Given the description of an element on the screen output the (x, y) to click on. 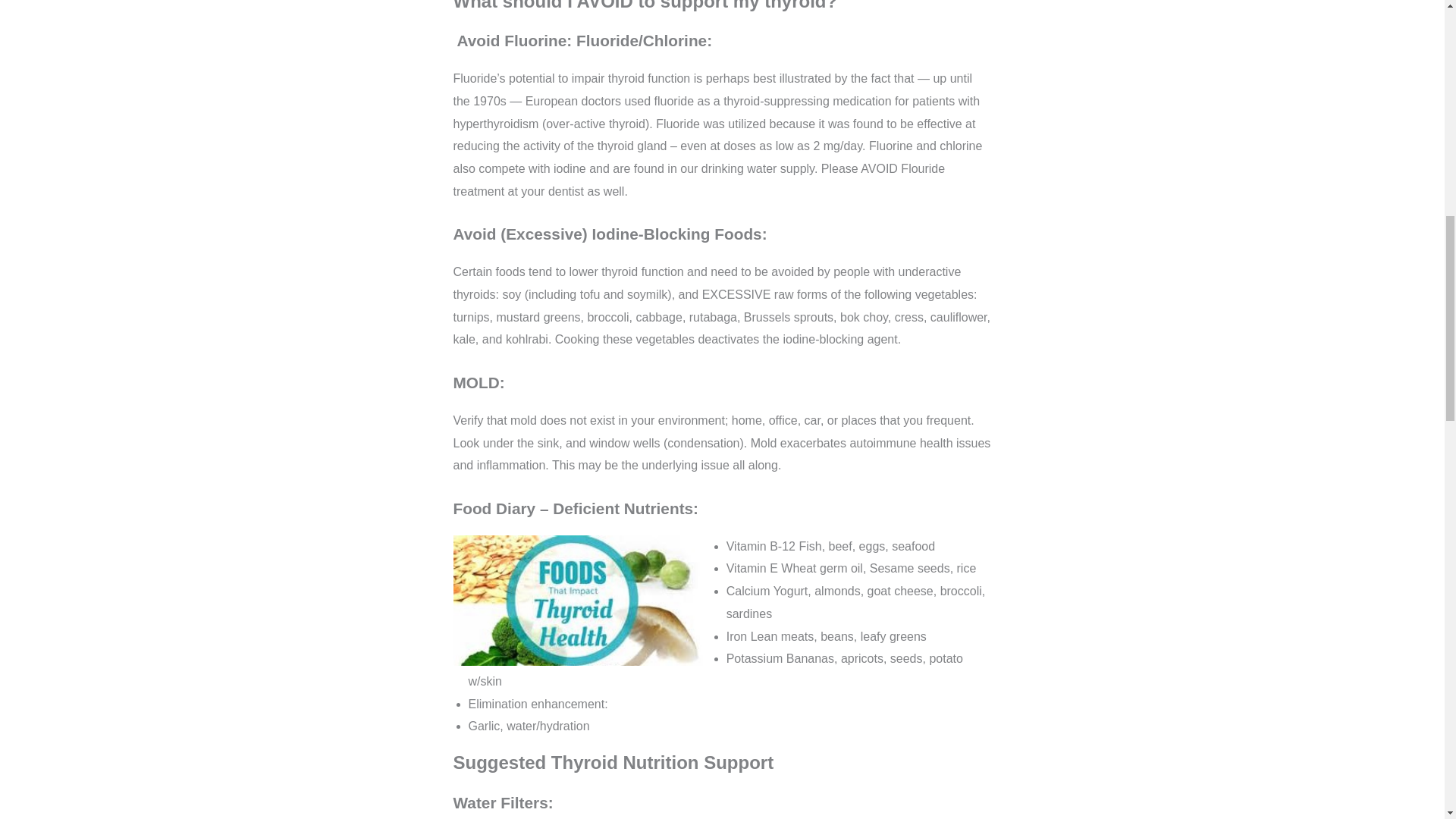
Thyroid Nutrition 2 (577, 600)
